Given the description of an element on the screen output the (x, y) to click on. 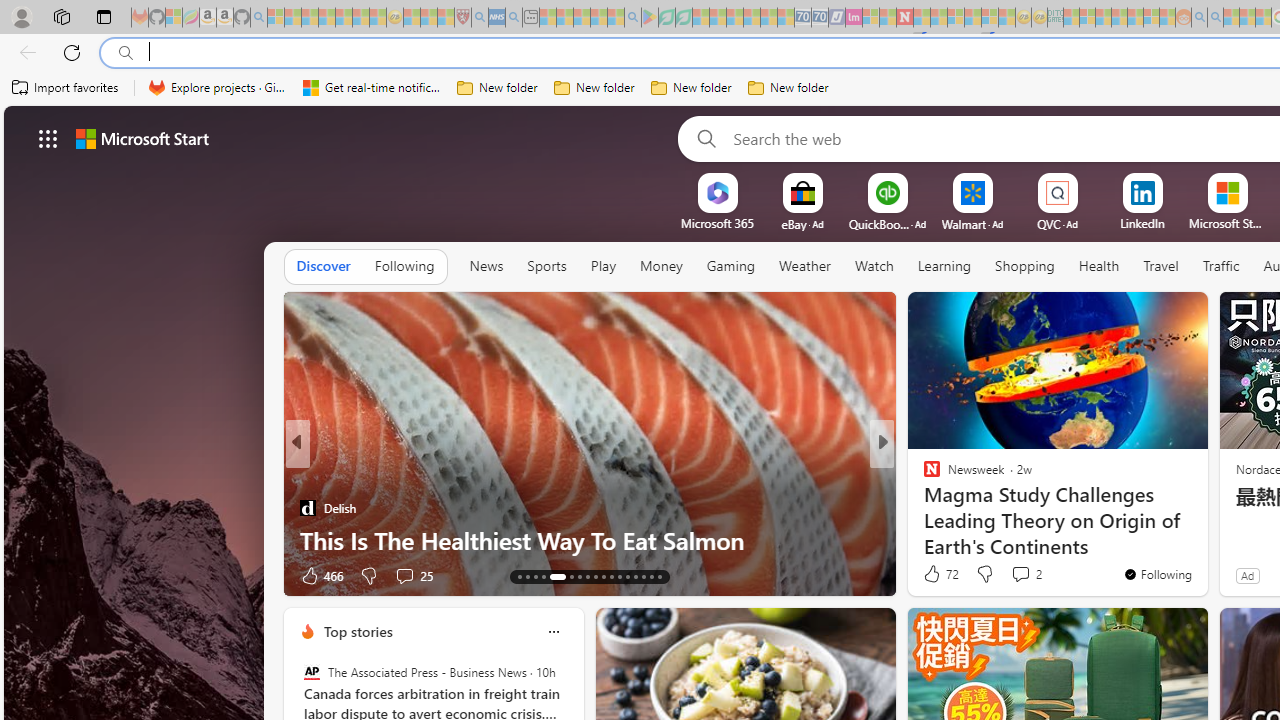
Microsoft-Report a Concern to Bing - Sleeping (173, 17)
Class: control (47, 138)
google - Search - Sleeping (632, 17)
Sports (546, 265)
AutomationID: tab-15 (535, 576)
AutomationID: tab-25 (627, 576)
Entrepreneur (923, 475)
Health (1098, 267)
Jobs - lastminute.com Investor Portal - Sleeping (853, 17)
Top stories (357, 631)
AutomationID: tab-19 (578, 576)
View comments 11 Comment (1019, 575)
Play (603, 267)
